Given the description of an element on the screen output the (x, y) to click on. 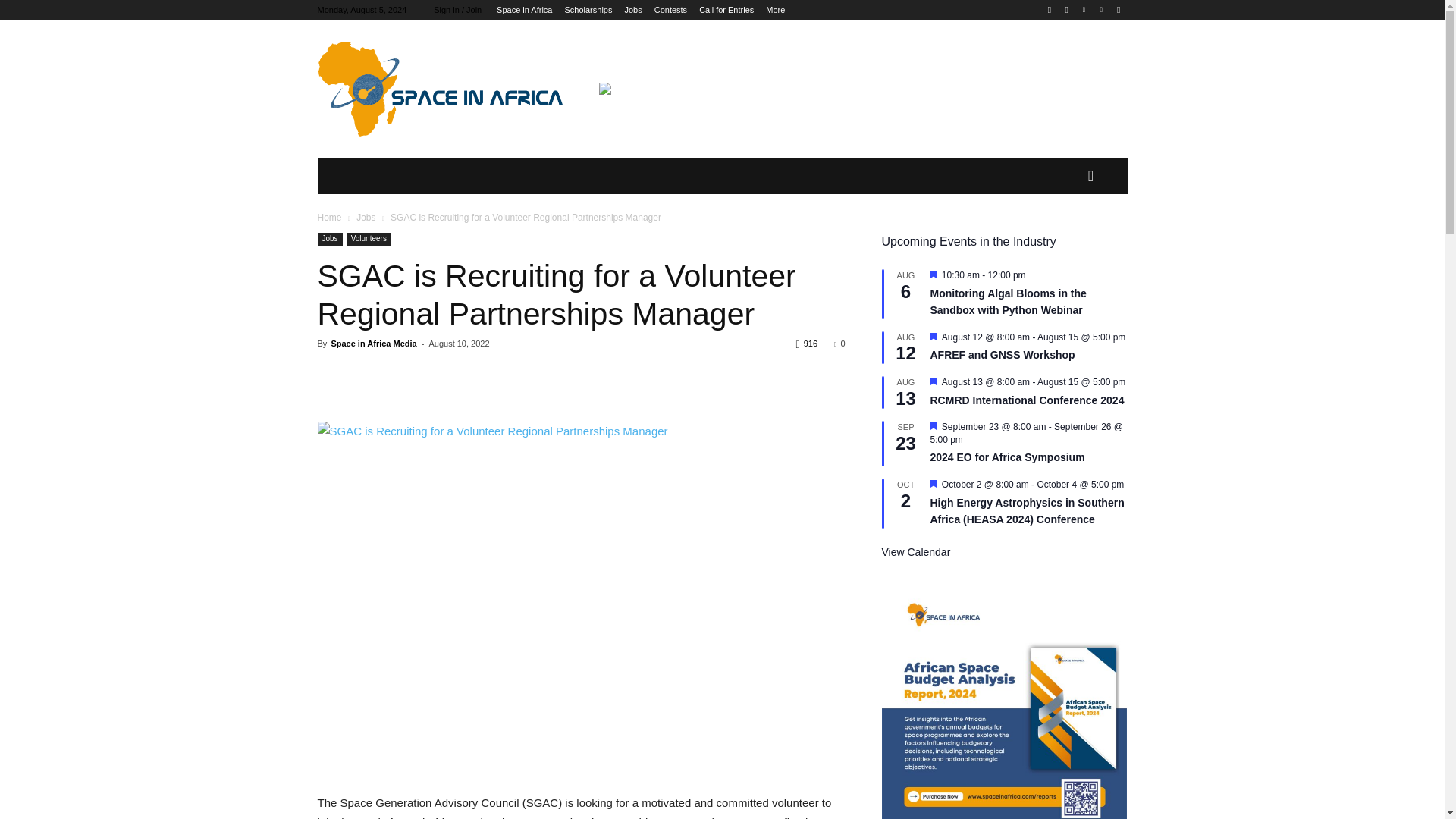
More (774, 9)
Scholarships (587, 9)
Jobs (633, 9)
Call for Entries (726, 9)
Space in Africa (523, 9)
Contests (670, 9)
